Given the description of an element on the screen output the (x, y) to click on. 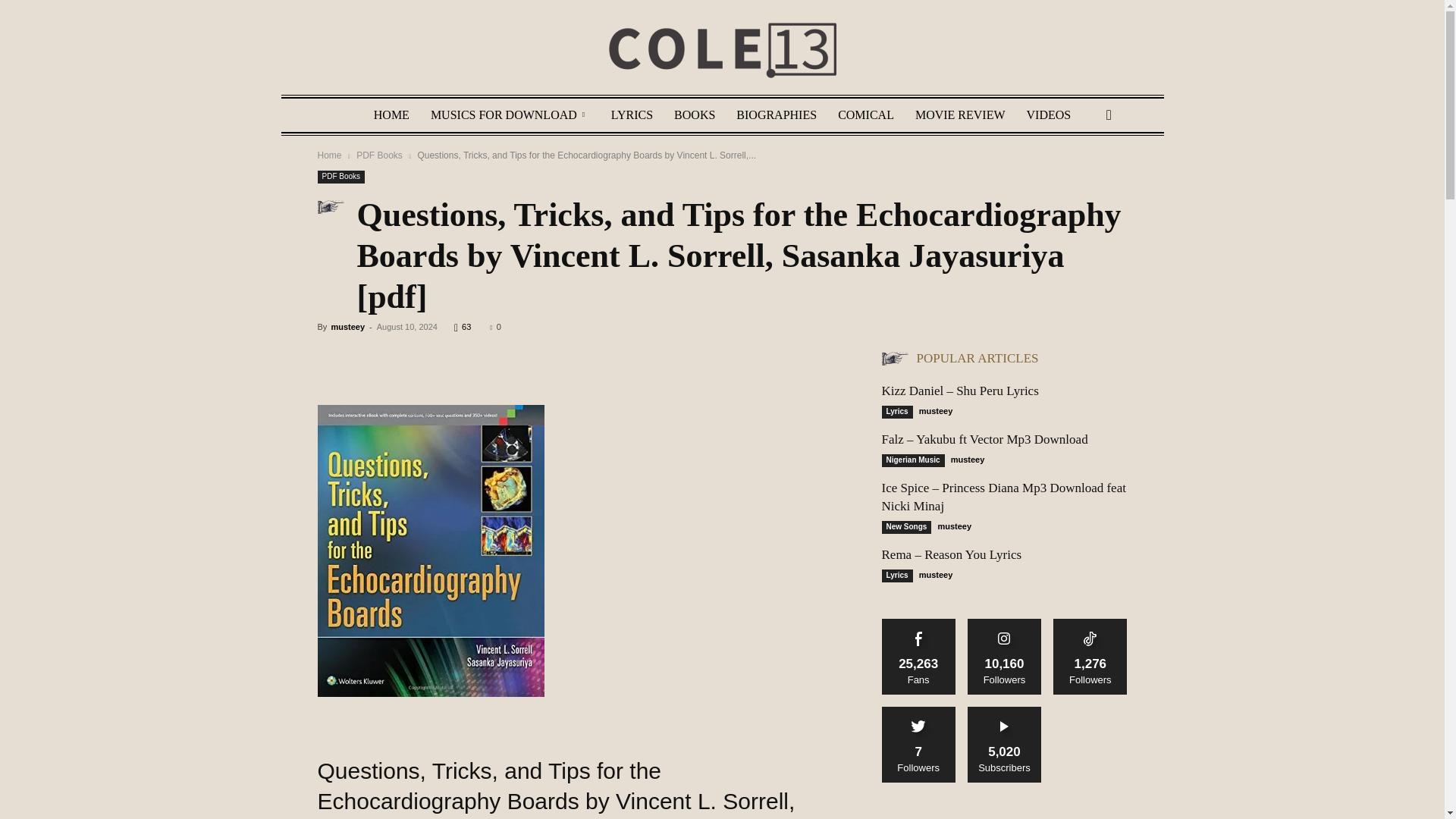
Home (328, 154)
LYRICS (631, 114)
musteey (347, 326)
PDF Books (379, 154)
HOME (391, 114)
BOOKS (694, 114)
MOVIE REVIEW (960, 114)
VIDEOS (1048, 114)
BIOGRAPHIES (776, 114)
COMICAL (865, 114)
